Given the description of an element on the screen output the (x, y) to click on. 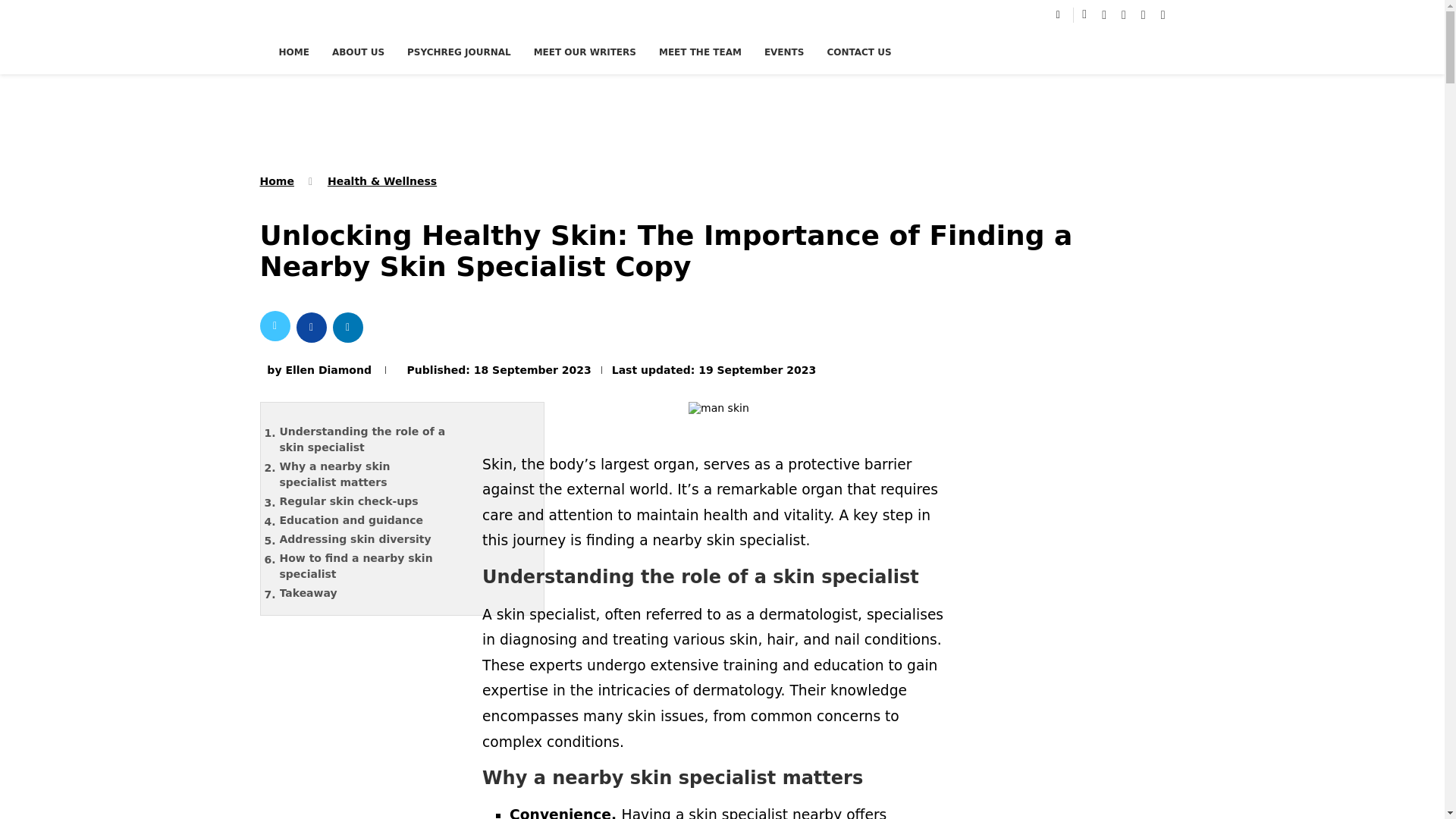
Education and guidance (373, 520)
CONTACT US (859, 52)
PSYCHREG JOURNAL (459, 52)
MEET THE TEAM (700, 52)
Addressing skin diversity (373, 538)
Takeaway (373, 592)
MEET OUR WRITERS (585, 52)
Regular skin check-ups (373, 501)
man skin (718, 411)
EVENTS (784, 52)
